Given the description of an element on the screen output the (x, y) to click on. 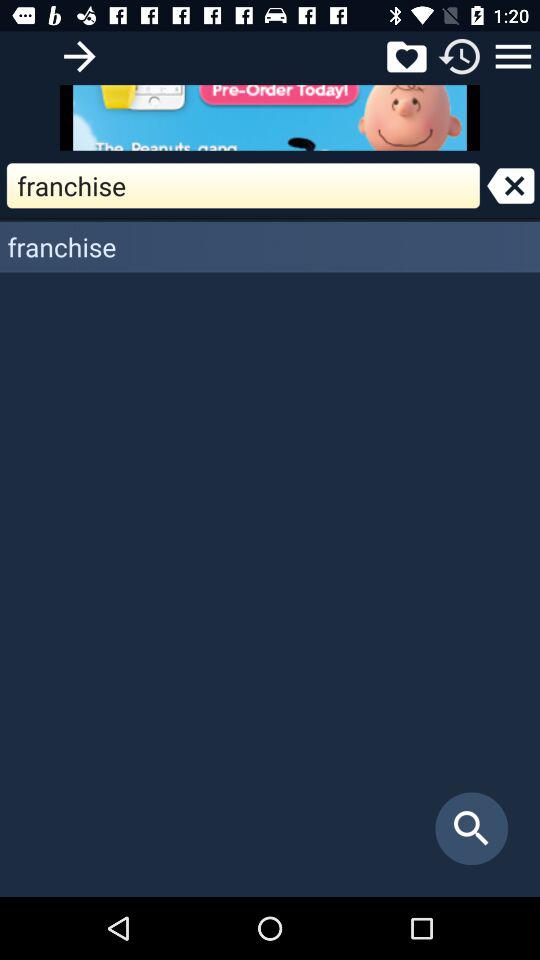
refresh (460, 56)
